Given the description of an element on the screen output the (x, y) to click on. 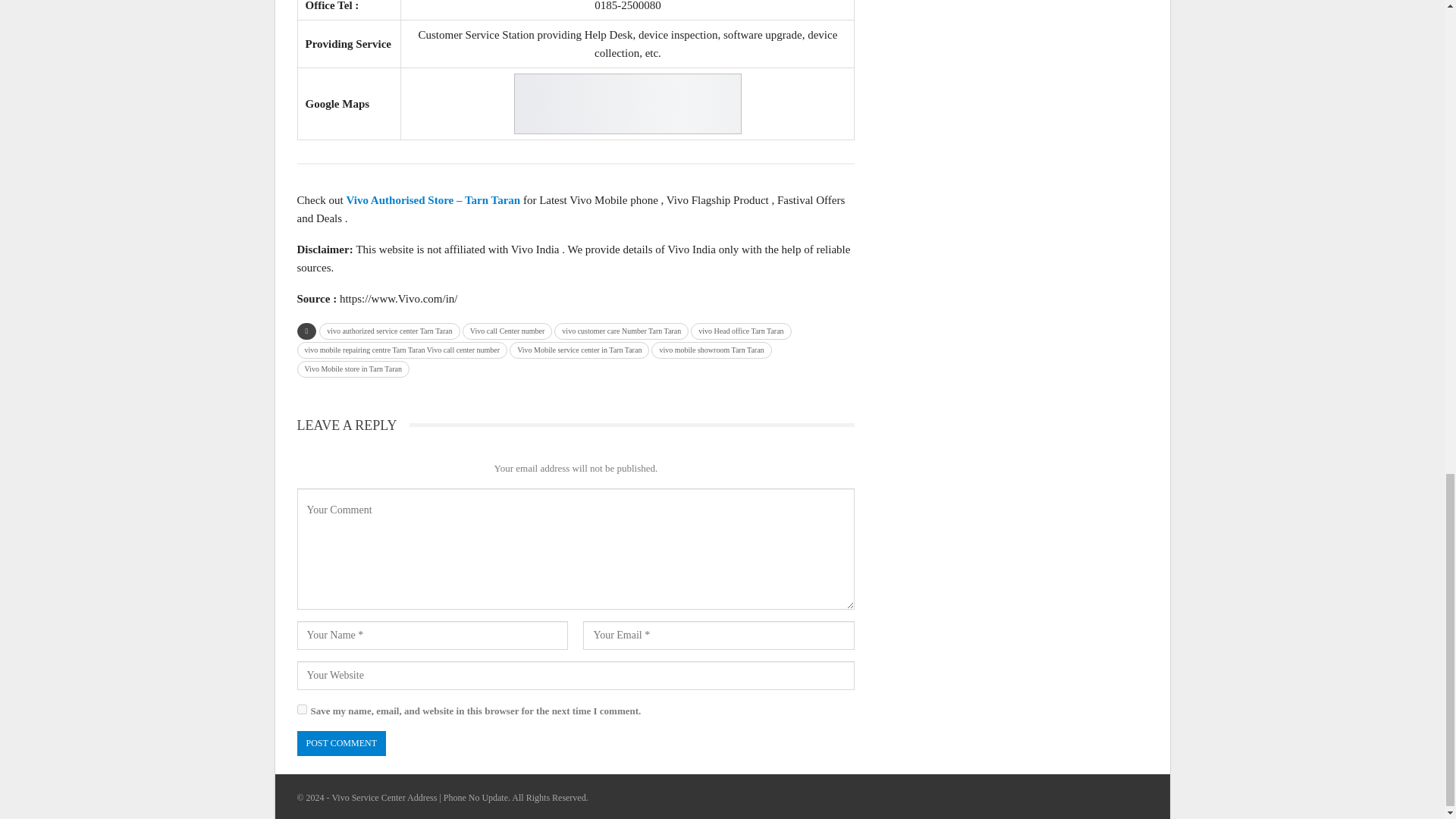
Post Comment (341, 743)
yes (302, 709)
